Given the description of an element on the screen output the (x, y) to click on. 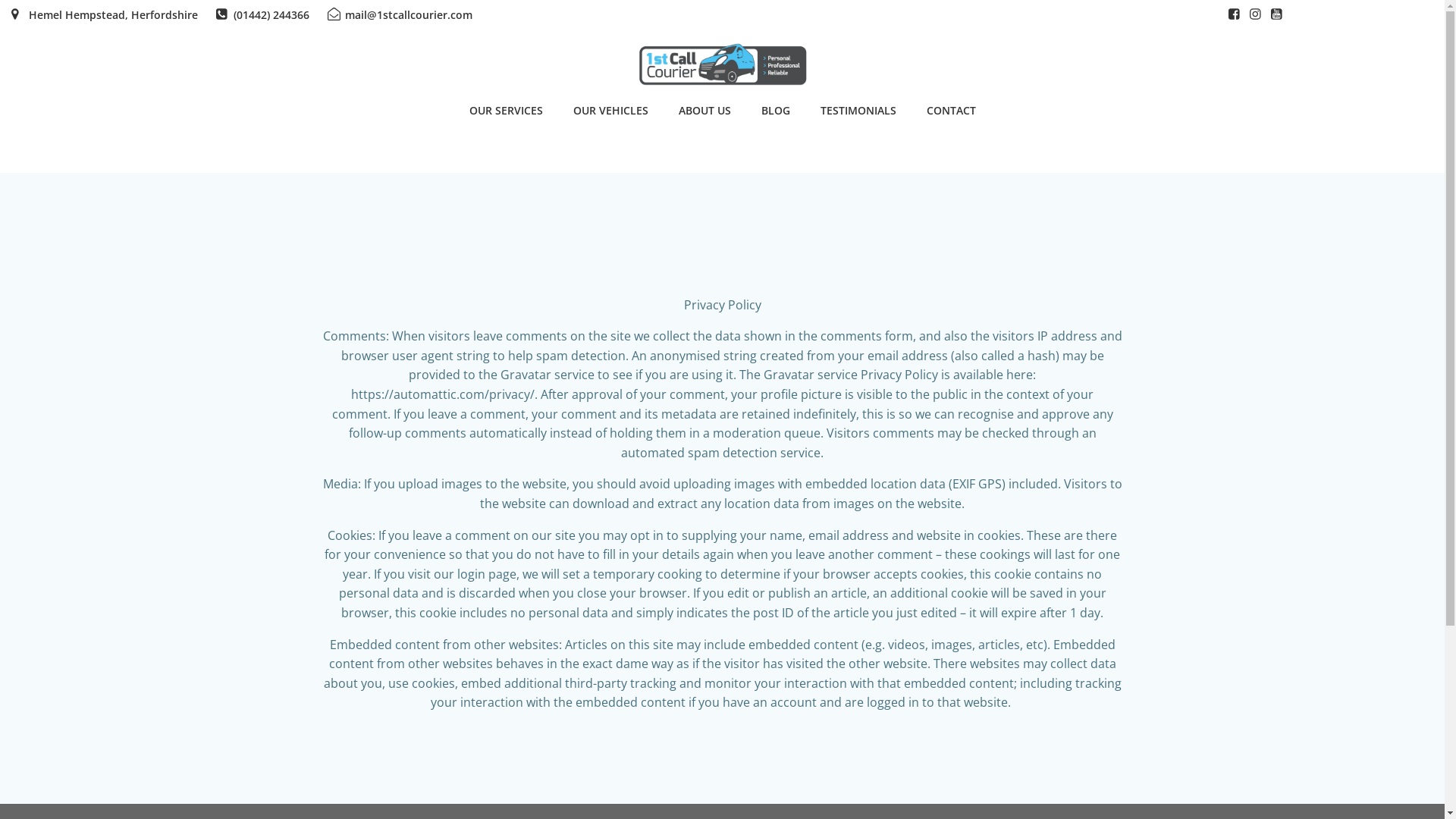
CONTACT Element type: text (950, 110)
mail@1stcallcourier.com Element type: text (399, 14)
OUR SERVICES Element type: text (505, 110)
Hemel Hempstead, Herfordshire Element type: text (104, 14)
ABOUT US Element type: text (703, 110)
BLOG Element type: text (775, 110)
OUR VEHICLES Element type: text (610, 110)
TESTIMONIALS Element type: text (858, 110)
